Given the description of an element on the screen output the (x, y) to click on. 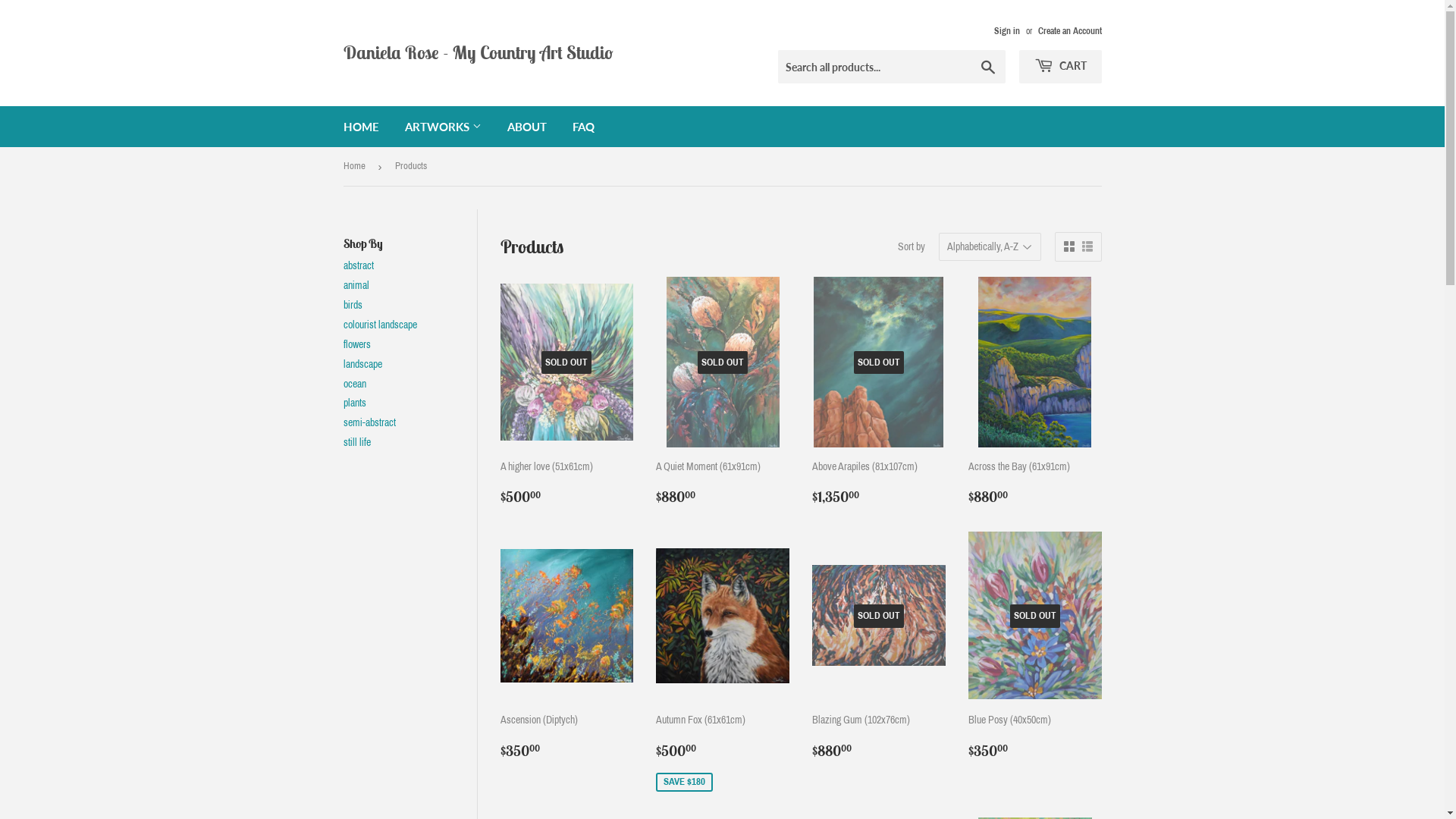
abstract Element type: text (357, 265)
Home Element type: text (356, 166)
Ascension (Diptych)
Regular price
$35000
$350.00 Element type: text (566, 645)
ocean Element type: text (353, 383)
flowers Element type: text (356, 344)
colourist landscape Element type: text (379, 324)
birds Element type: text (351, 304)
SOLD OUT
Blazing Gum (102x76cm)
Regular price
$88000
$880.00 Element type: text (878, 645)
still life Element type: text (356, 442)
Autumn Fox (61x61cm)
Sale price
$50000
$500.00
SAVE $180 Element type: text (722, 662)
Across the Bay (61x91cm)
Regular price
$88000
$880.00 Element type: text (1034, 391)
HOME Element type: text (361, 126)
ABOUT Element type: text (526, 126)
FAQ Element type: text (583, 126)
CART Element type: text (1060, 66)
Daniela Rose - My Country Art Studio Element type: text (531, 52)
semi-abstract Element type: text (368, 422)
ARTWORKS Element type: text (442, 126)
plants Element type: text (353, 402)
Grid view Element type: hover (1068, 247)
List view Element type: hover (1086, 247)
Search Element type: text (987, 67)
animal Element type: text (355, 285)
landscape Element type: text (361, 364)
Create an Account Element type: text (1069, 30)
SOLD OUT
Blue Posy (40x50cm)
Regular price
$35000
$350.00 Element type: text (1034, 645)
Sign in Element type: text (1006, 30)
